Given the description of an element on the screen output the (x, y) to click on. 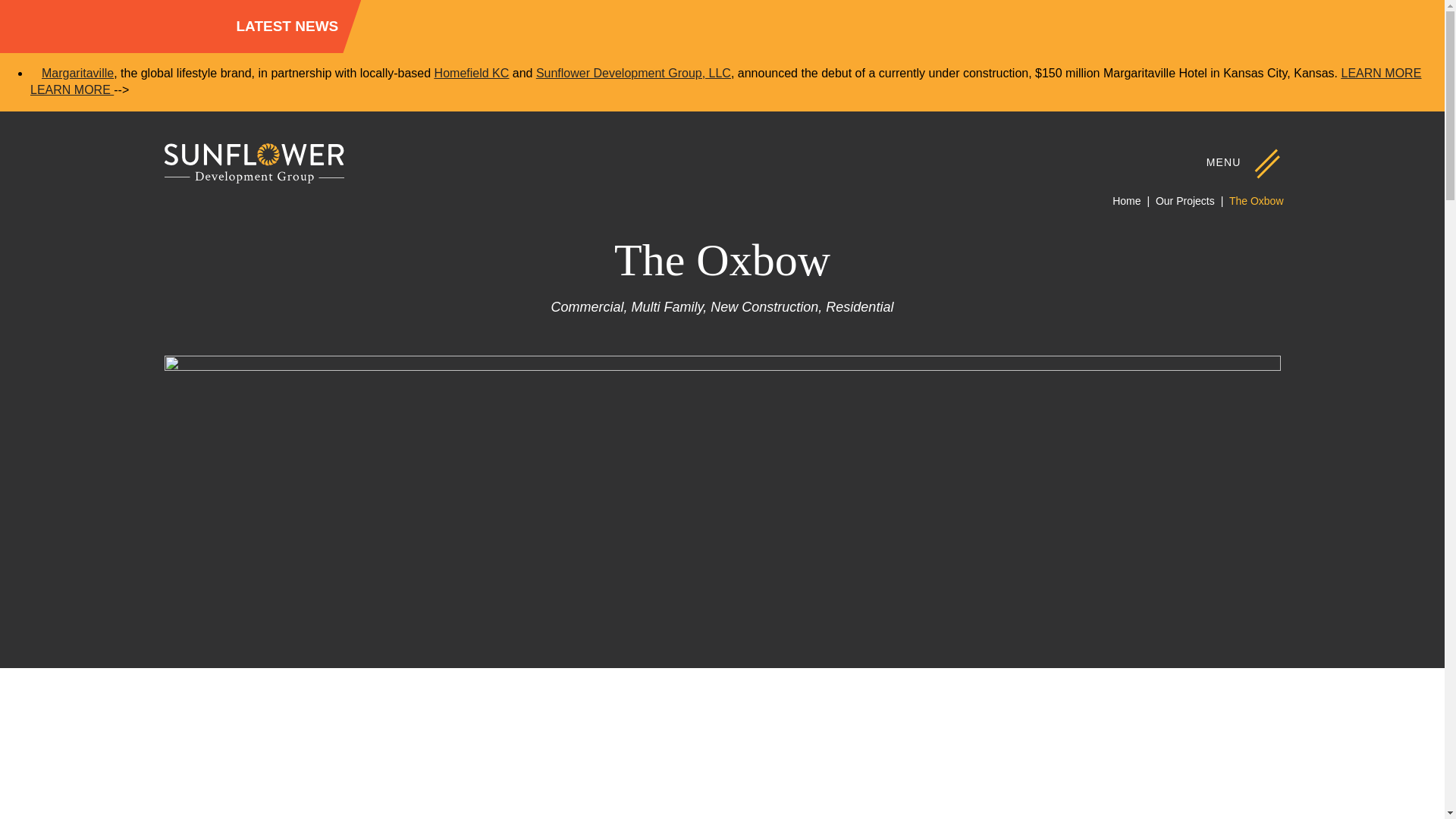
Homefield KC (471, 72)
Sunflower Development Group, LLC (632, 72)
LEARN MORE (1381, 72)
Our Projects (1185, 200)
LEARN MORE (71, 89)
Margaritaville (77, 72)
Home (1126, 200)
